Given the description of an element on the screen output the (x, y) to click on. 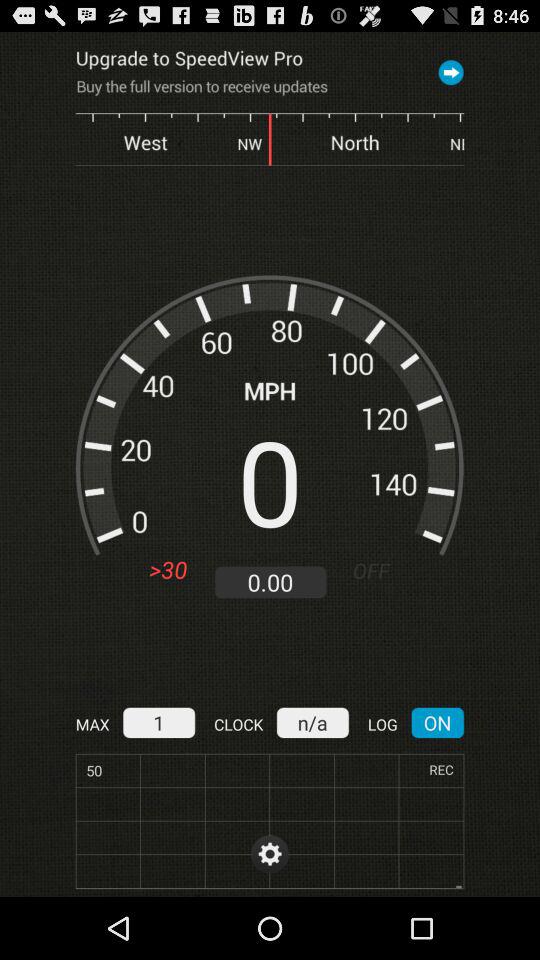
select the on (437, 722)
